Given the description of an element on the screen output the (x, y) to click on. 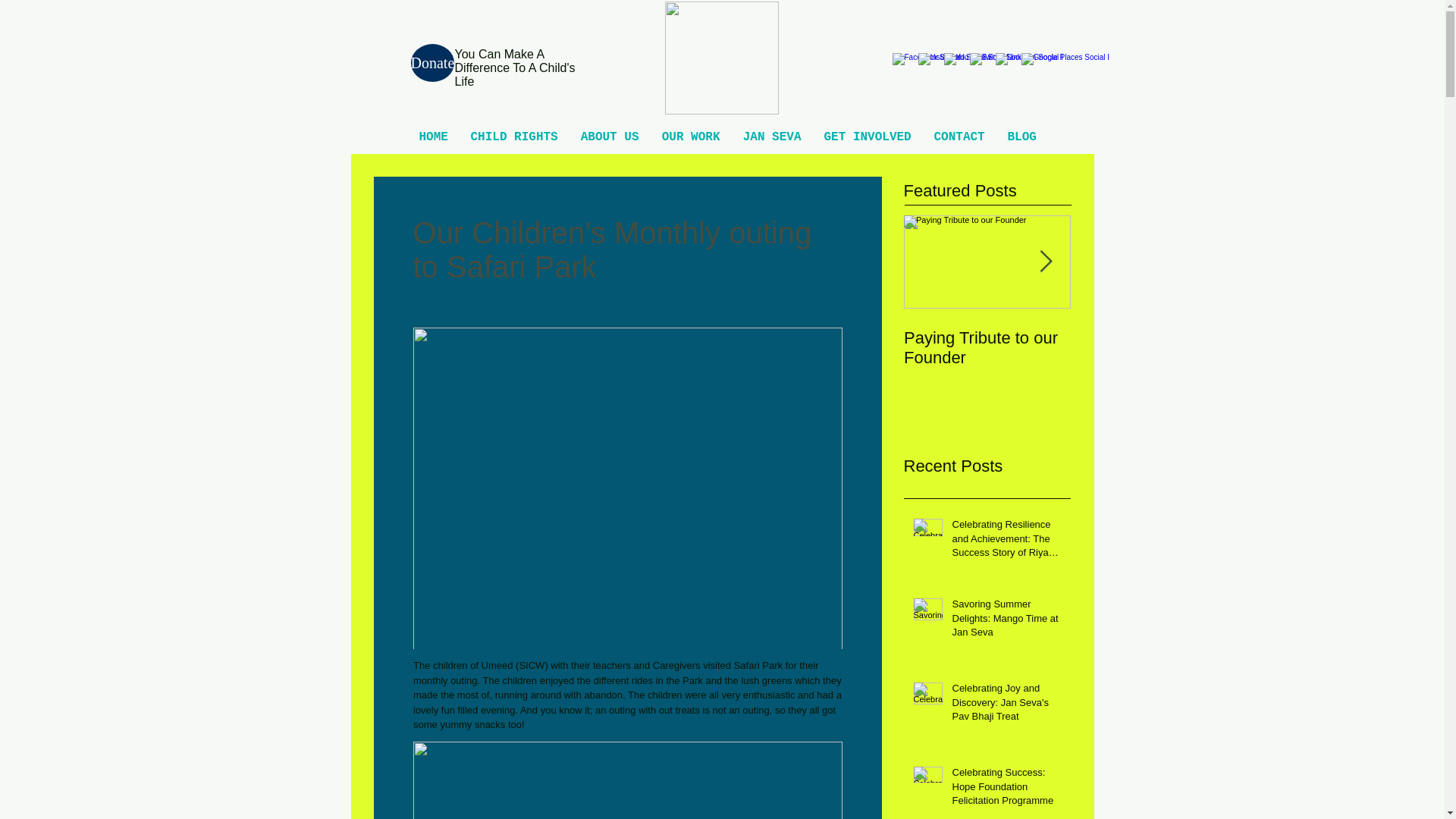
HOME (433, 137)
GET INVOLVED (867, 137)
BLOG (1021, 137)
ABOUT US (609, 137)
CHILD RIGHTS (514, 137)
CONTACT (958, 137)
JAN SEVA (771, 137)
Donate (432, 62)
OUR WORK (691, 137)
